Given the description of an element on the screen output the (x, y) to click on. 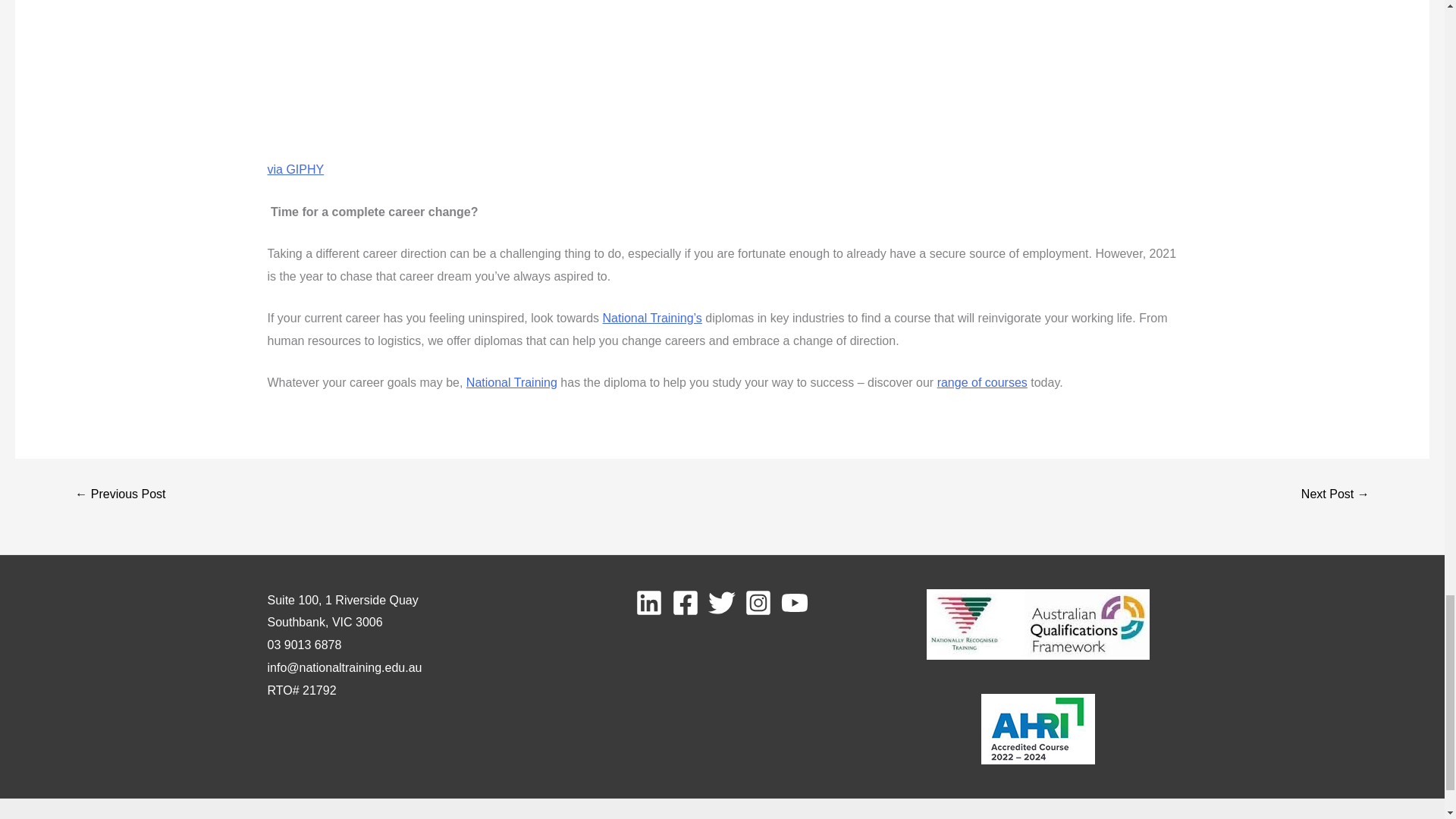
How To Balance Work With Study (119, 494)
See Out Summer With These Study Specials (1334, 494)
